Given the description of an element on the screen output the (x, y) to click on. 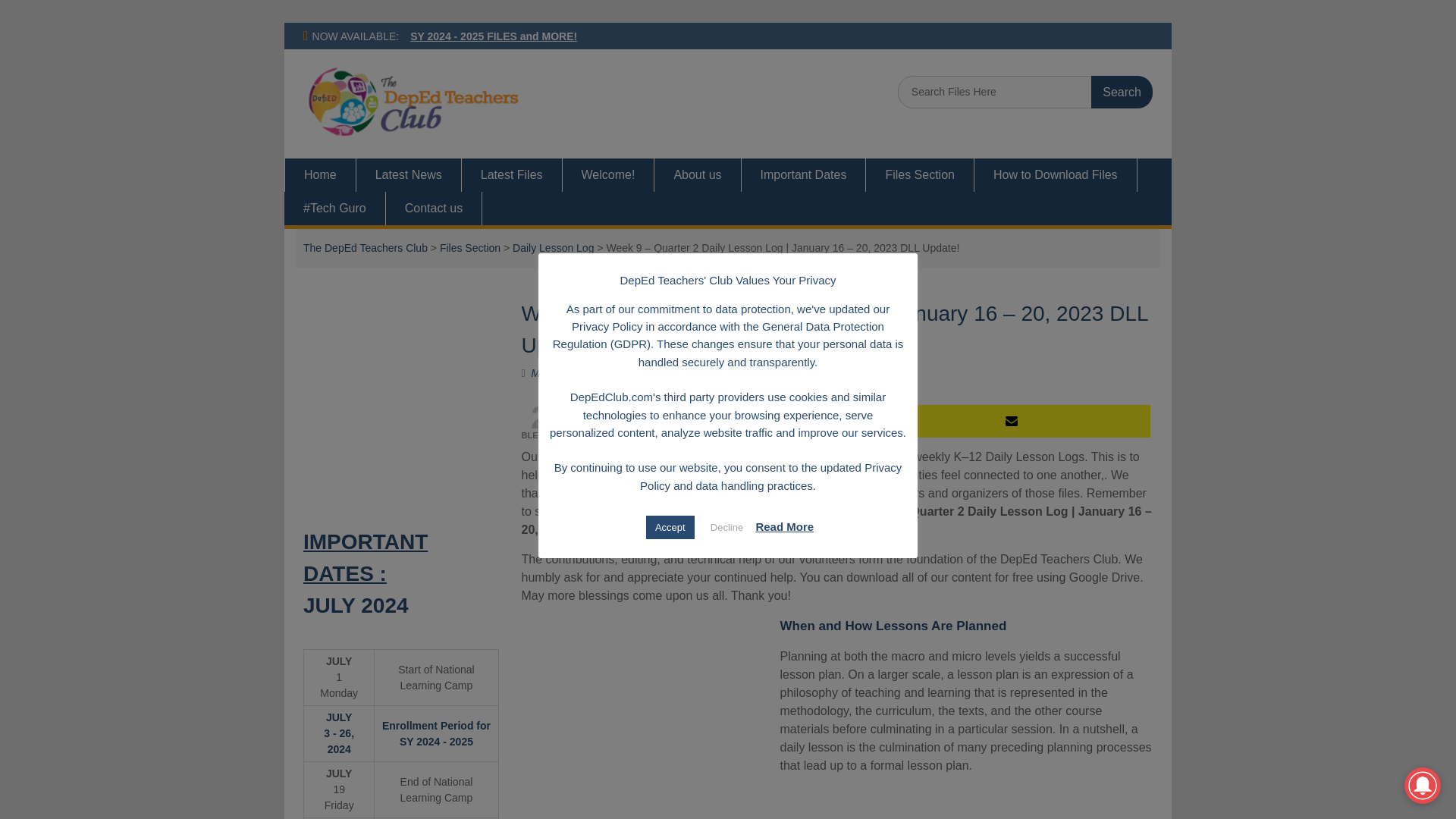
Search for: (1025, 92)
SY 2024 - 2025 FILES and MORE! (493, 36)
About us (697, 174)
Welcome! (608, 174)
Ma'am Blessie (565, 372)
Files Section (920, 174)
Files Section (469, 247)
Daily Lesson Log (553, 247)
The DepEd Teachers Club (365, 247)
How to Download Files (1055, 174)
Subscribe (1016, 420)
Advertisement (437, 404)
Search (1121, 92)
Advertisement (648, 717)
